Given the description of an element on the screen output the (x, y) to click on. 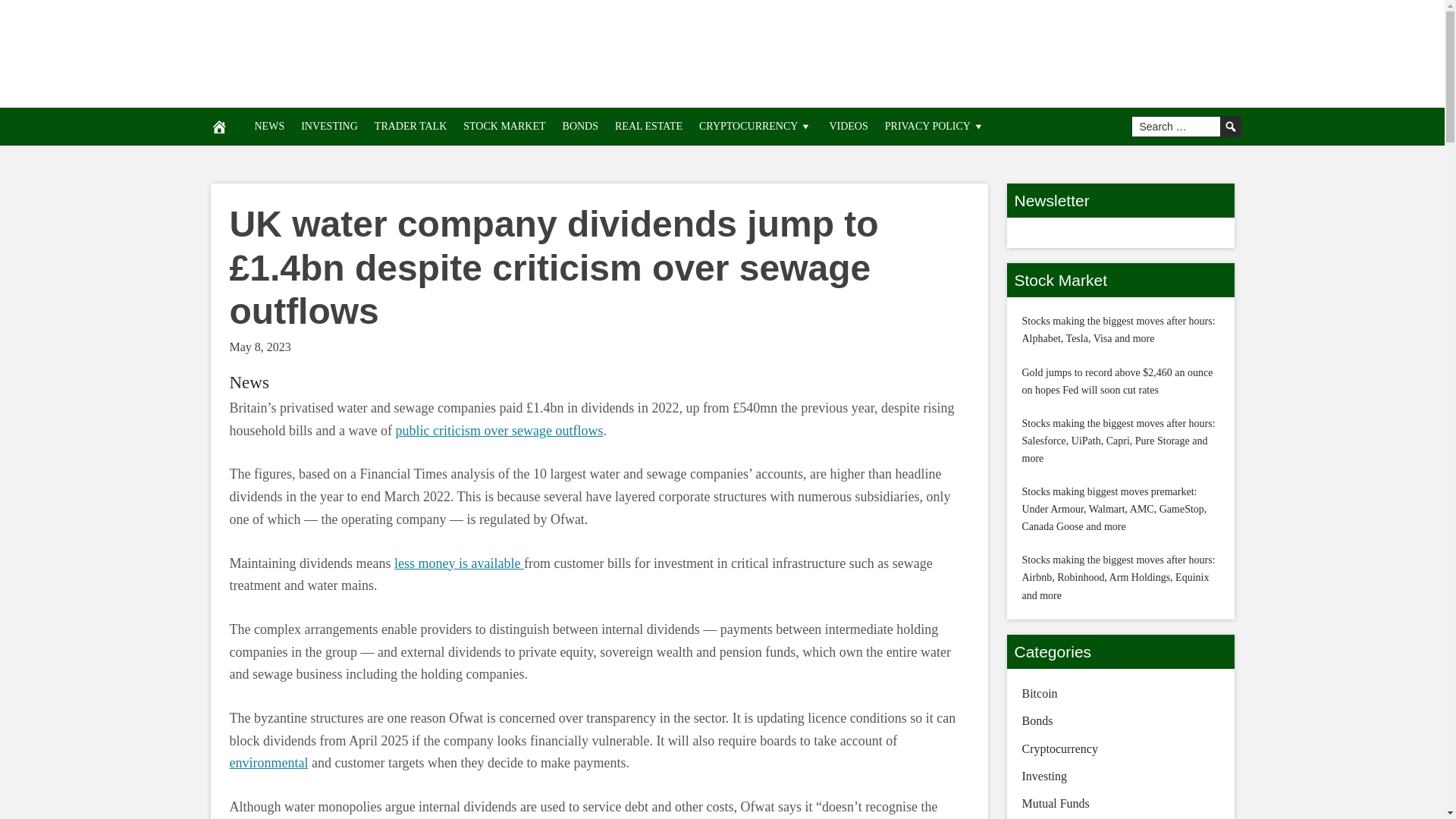
News (247, 382)
STOCK MARKET (503, 126)
VIDEOS (848, 126)
REAL ESTATE (648, 126)
BONDS (580, 126)
CRYPTOCURRENCY (755, 126)
less money is available (459, 563)
PRIVACY POLICY (934, 126)
TRADER TALK (410, 126)
INVESTING (329, 126)
public criticism over sewage outflows (498, 430)
News (247, 382)
NEWS (269, 126)
